Given the description of an element on the screen output the (x, y) to click on. 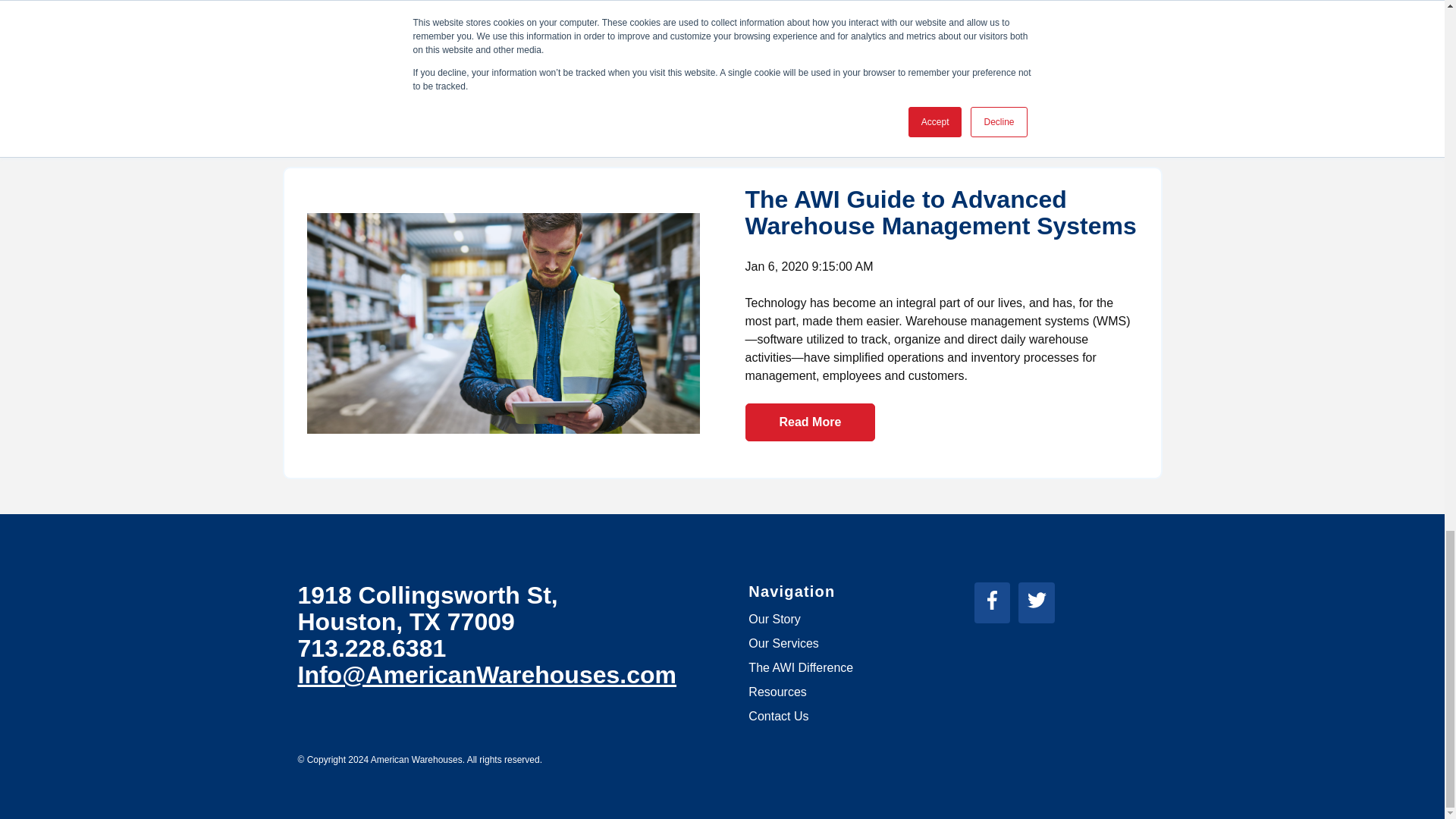
Contact Us (778, 716)
Follow us on Twitter (1036, 599)
Follow us on Twitter (1039, 605)
Follow us on Facebook (996, 605)
Read More (809, 422)
Follow us on Facebook (991, 599)
Our Story (773, 618)
Read More (809, 75)
Resources (777, 691)
Our Services (783, 643)
The AWI Guide to Advanced Warehouse Management Systems (939, 212)
The AWI Difference (800, 667)
